Given the description of an element on the screen output the (x, y) to click on. 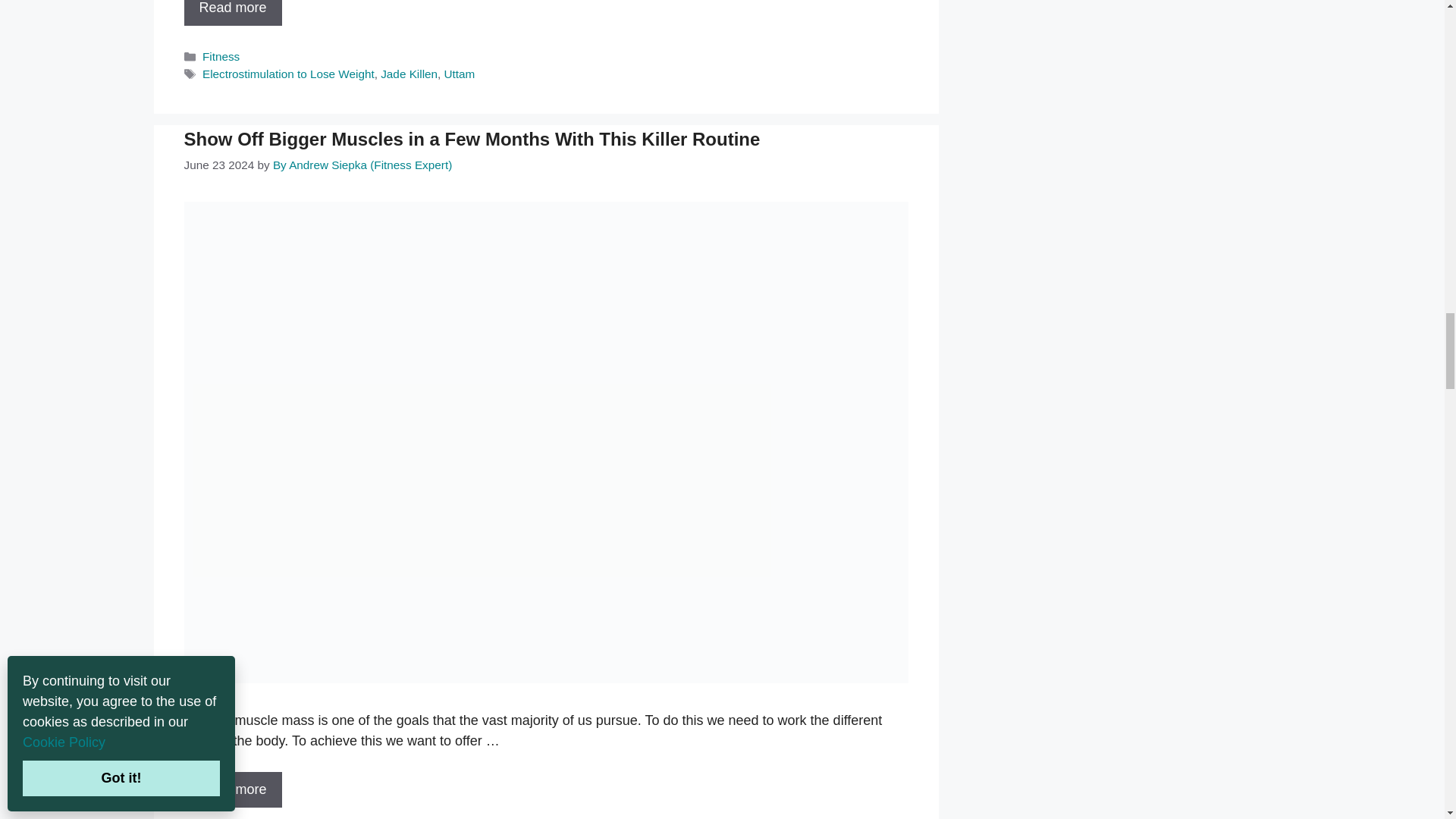
Electrostimulation to Lose Weight (232, 12)
